Given the description of an element on the screen output the (x, y) to click on. 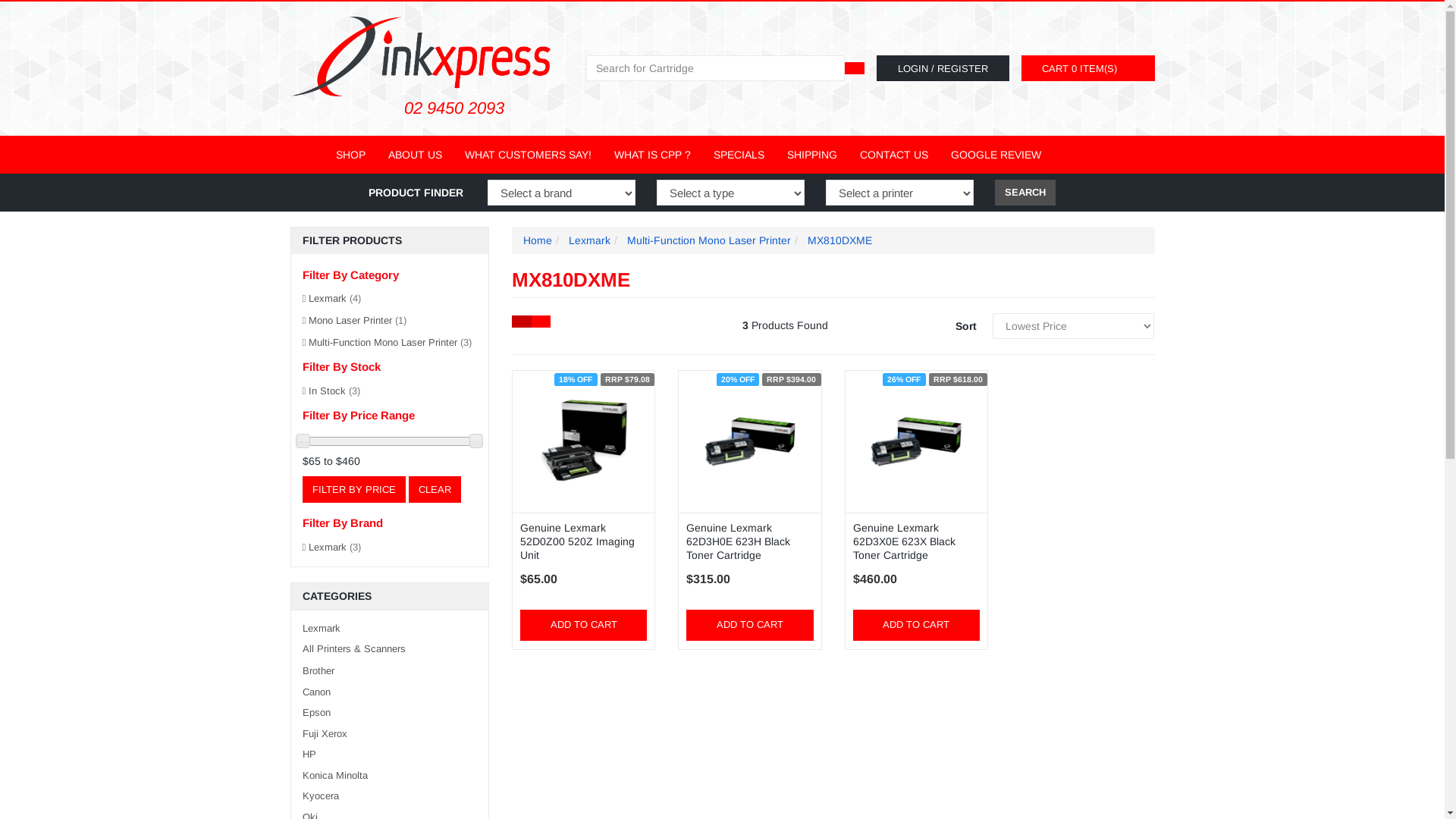
Kyocera Element type: text (390, 796)
SHOP Element type: text (350, 154)
Konica Minolta Element type: text (390, 776)
SPECIALS Element type: text (738, 154)
LOGIN Element type: text (912, 65)
Lexmark (3) Element type: text (390, 547)
SHIPPING Element type: text (811, 154)
Search Element type: text (854, 68)
WHAT IS CPP ? Element type: text (651, 154)
Filter By Price Element type: text (352, 489)
Multi-Function Mono Laser Printer Element type: text (708, 240)
WHAT CUSTOMERS SAY! Element type: text (527, 154)
02 9450 2093 Element type: text (396, 107)
Lexmark Element type: text (390, 629)
Genuine Lexmark 62D3H0E 623H Black Toner Cartridge Element type: text (738, 541)
Home Element type: text (537, 240)
CART 0 ITEM(S) Element type: text (1074, 68)
Lexmark Element type: text (589, 240)
ADD TO CART Element type: text (583, 624)
Fuji Xerox Element type: text (390, 734)
In Stock (3) Element type: text (390, 391)
GOOGLE REVIEW Element type: text (994, 154)
Canon Element type: text (390, 692)
FILTER PRODUCTS Element type: text (388, 240)
SEARCH Element type: text (1024, 192)
MX810DXME Element type: text (839, 240)
REGISTER Element type: text (962, 65)
Multi-Function Mono Laser Printer (3) Element type: text (390, 343)
Lexmark (4) Element type: text (390, 299)
Genuine Lexmark 52D0Z00 520Z Imaging Unit Element type: text (577, 541)
CONTACT US Element type: text (892, 154)
HP Element type: text (390, 754)
ADD TO CART Element type: text (749, 624)
Mono Laser Printer (1) Element type: text (390, 321)
ADD TO CART Element type: text (916, 624)
Inkxpress Element type: hover (425, 47)
All Printers & Scanners Element type: text (390, 649)
CLEAR Element type: text (433, 489)
ABOUT US Element type: text (414, 154)
Epson Element type: text (390, 713)
Brother Element type: text (390, 671)
Genuine Lexmark 62D3X0E 623X Black Toner Cartridge Element type: text (904, 541)
